Given the description of an element on the screen output the (x, y) to click on. 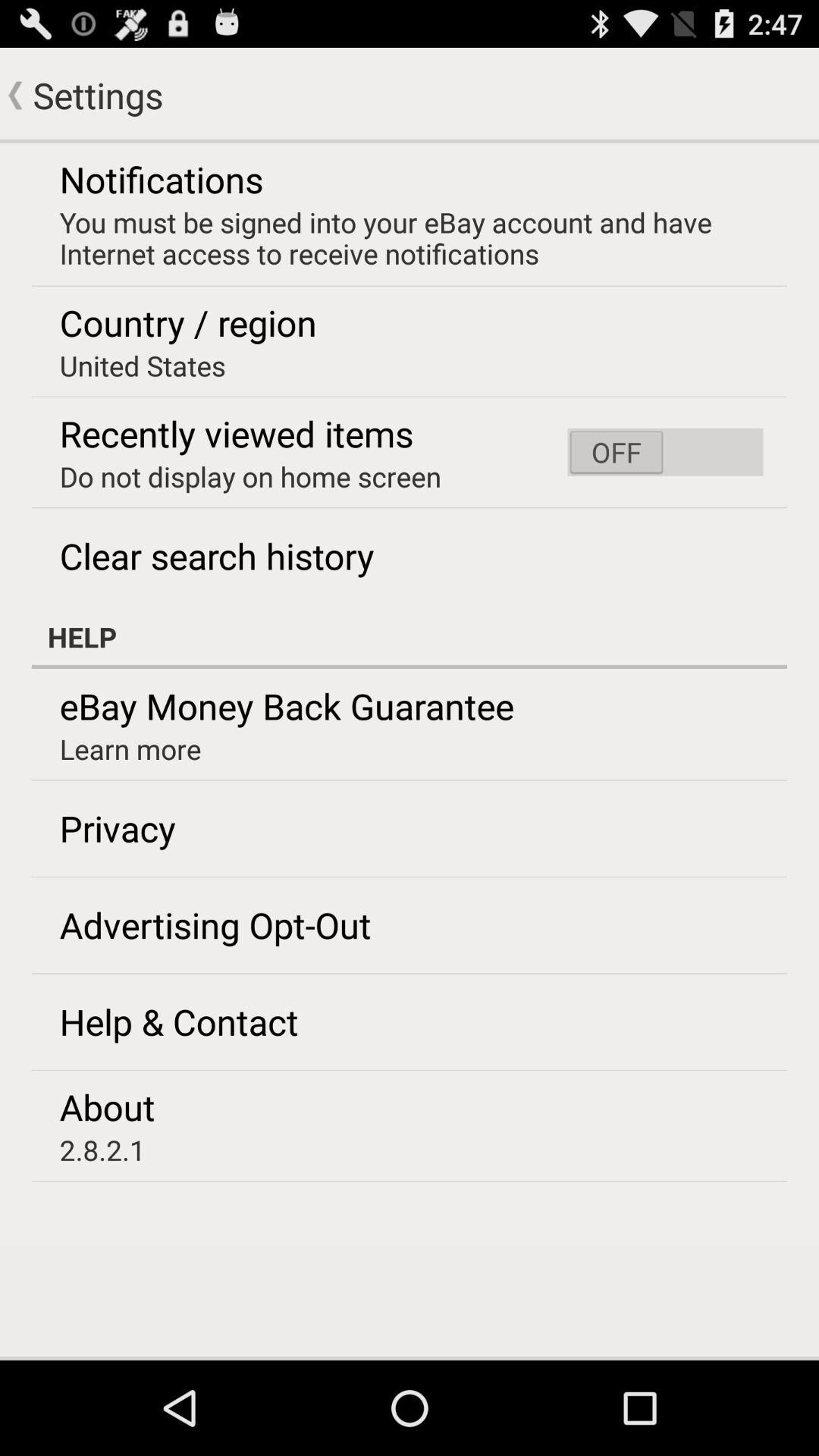
jump until the united states app (142, 365)
